Given the description of an element on the screen output the (x, y) to click on. 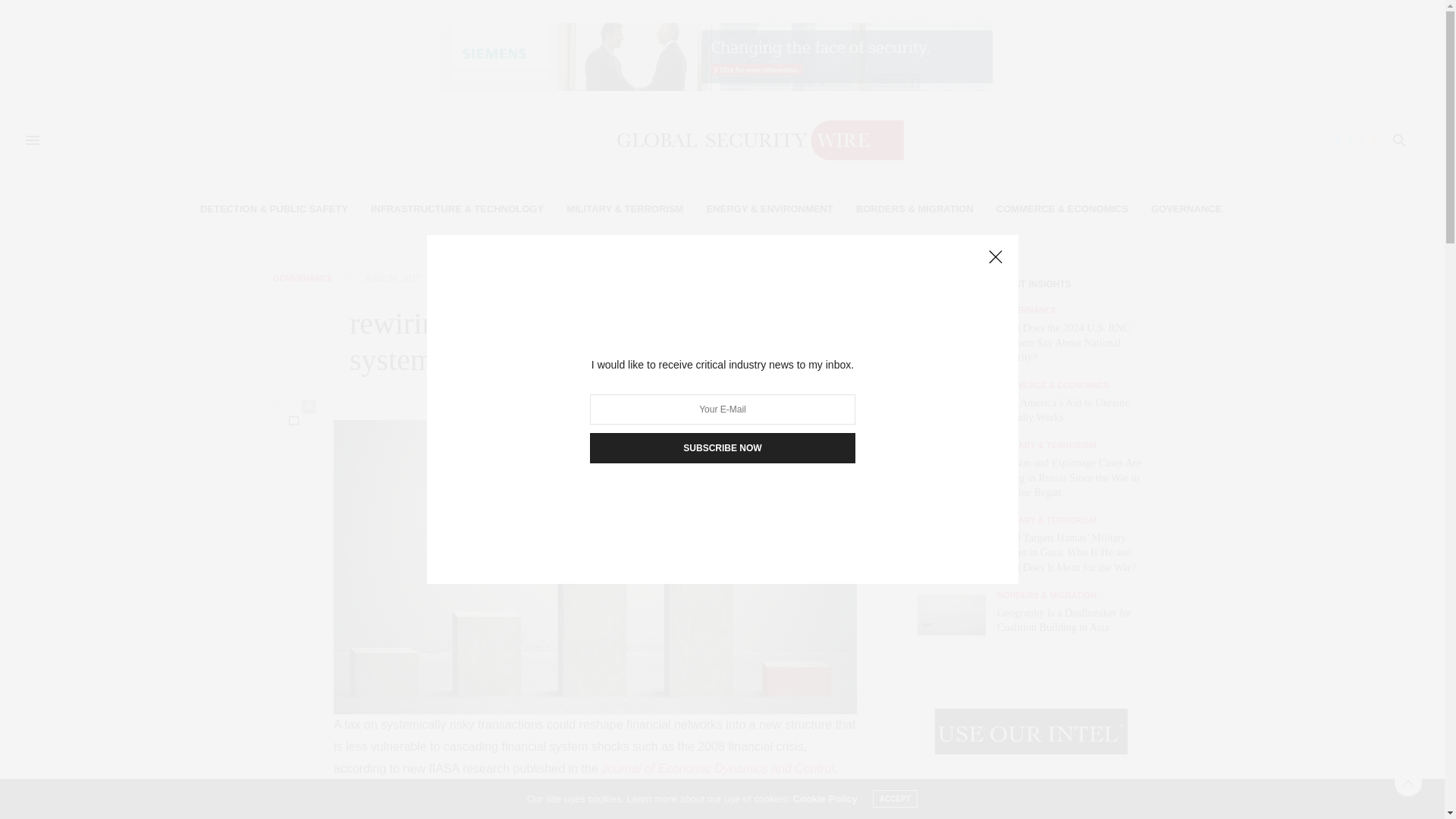
Global Security Wire (716, 140)
Journal of Economic Dynamics and Control (717, 768)
Geography Is a Dealbreaker for Coalition Building in Asia (957, 614)
SUBSCRIBE NOW (722, 448)
0 (293, 421)
What Does the 2024 RNC Platform Say About National Security? (951, 337)
GOVERNANCE (303, 278)
GOVERNANCE (1186, 209)
